Given the description of an element on the screen output the (x, y) to click on. 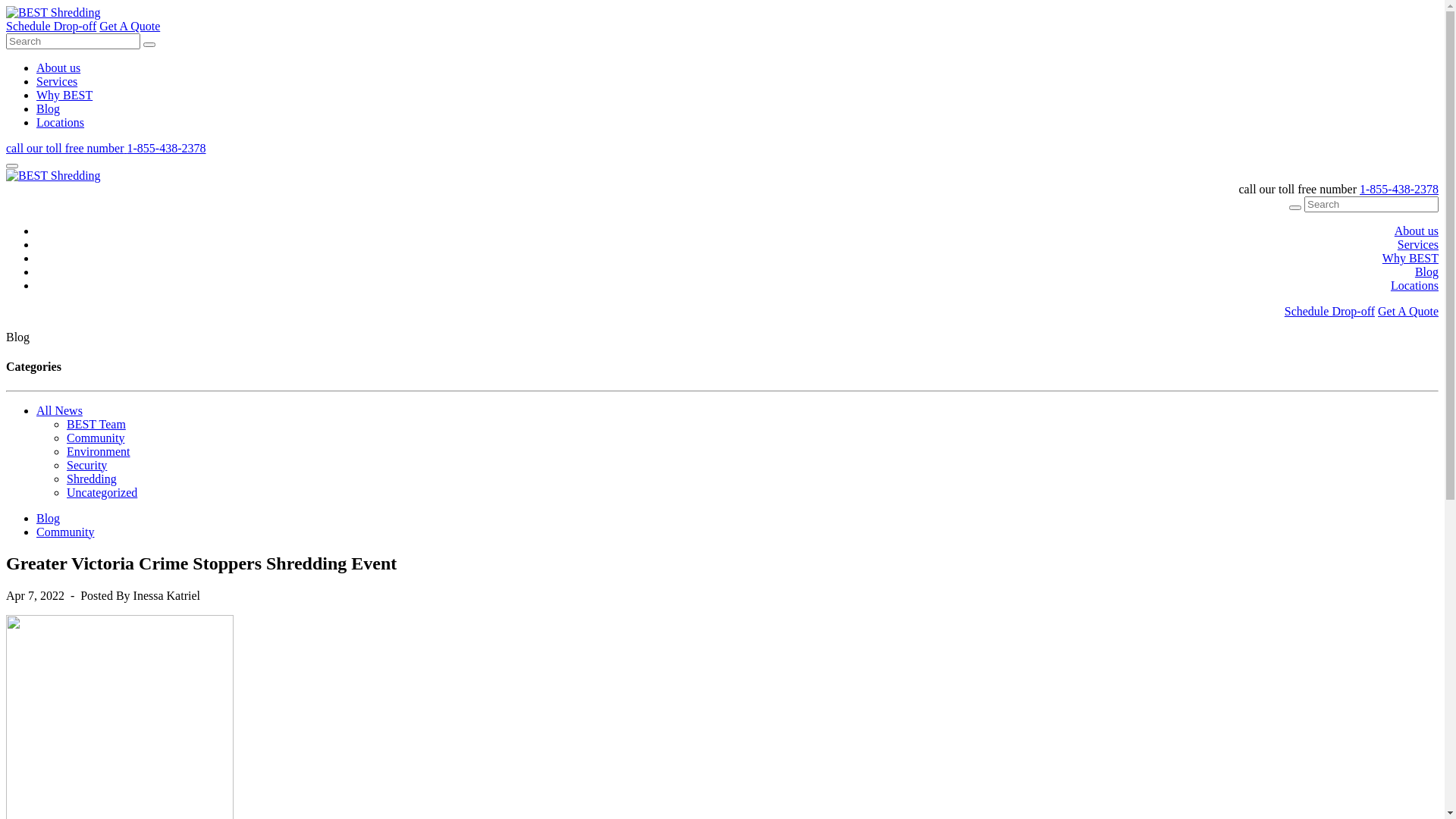
Schedule Drop-off Element type: text (51, 25)
About us Element type: text (1416, 230)
Schedule Drop-off Element type: text (1329, 310)
All News Element type: text (59, 410)
Security Element type: text (86, 464)
Blog Element type: text (47, 517)
Locations Element type: text (60, 122)
Get A Quote Element type: text (129, 25)
Community Element type: text (65, 531)
call our toll free number 1-855-438-2378 Element type: text (105, 147)
Blog Element type: text (1426, 271)
Services Element type: text (56, 81)
1-855-438-2378 Element type: text (1398, 188)
Uncategorized Element type: text (101, 492)
Community Element type: text (95, 437)
Blog Element type: text (47, 108)
Locations Element type: text (1414, 285)
Get A Quote Element type: text (1407, 310)
Why BEST Element type: text (64, 94)
Services Element type: text (1417, 244)
BEST Team Element type: text (95, 423)
Environment Element type: text (98, 451)
Shredding Element type: text (91, 478)
About us Element type: text (58, 67)
Why BEST Element type: text (1410, 257)
